Given the description of an element on the screen output the (x, y) to click on. 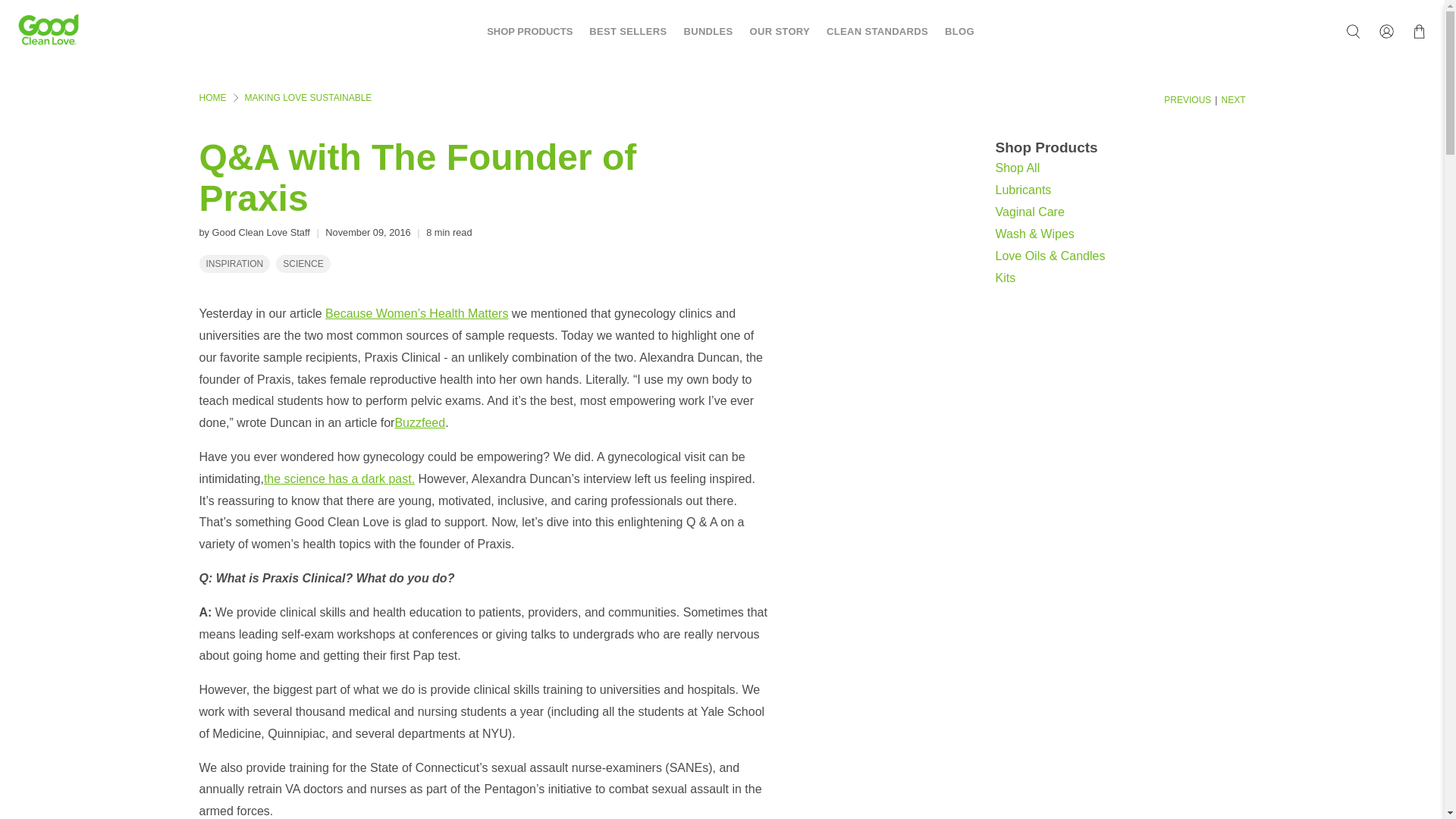
Next (1232, 99)
Vaginal Care (1029, 210)
Previous (1187, 99)
SHOP PRODUCTS (521, 31)
Making Love Sustainable (307, 97)
Kits (1004, 277)
Making Love Sustainable tagged inspiration (234, 264)
Good Clean Love (211, 97)
Shop All (1016, 166)
Making Love Sustainable tagged science (302, 264)
